Given the description of an element on the screen output the (x, y) to click on. 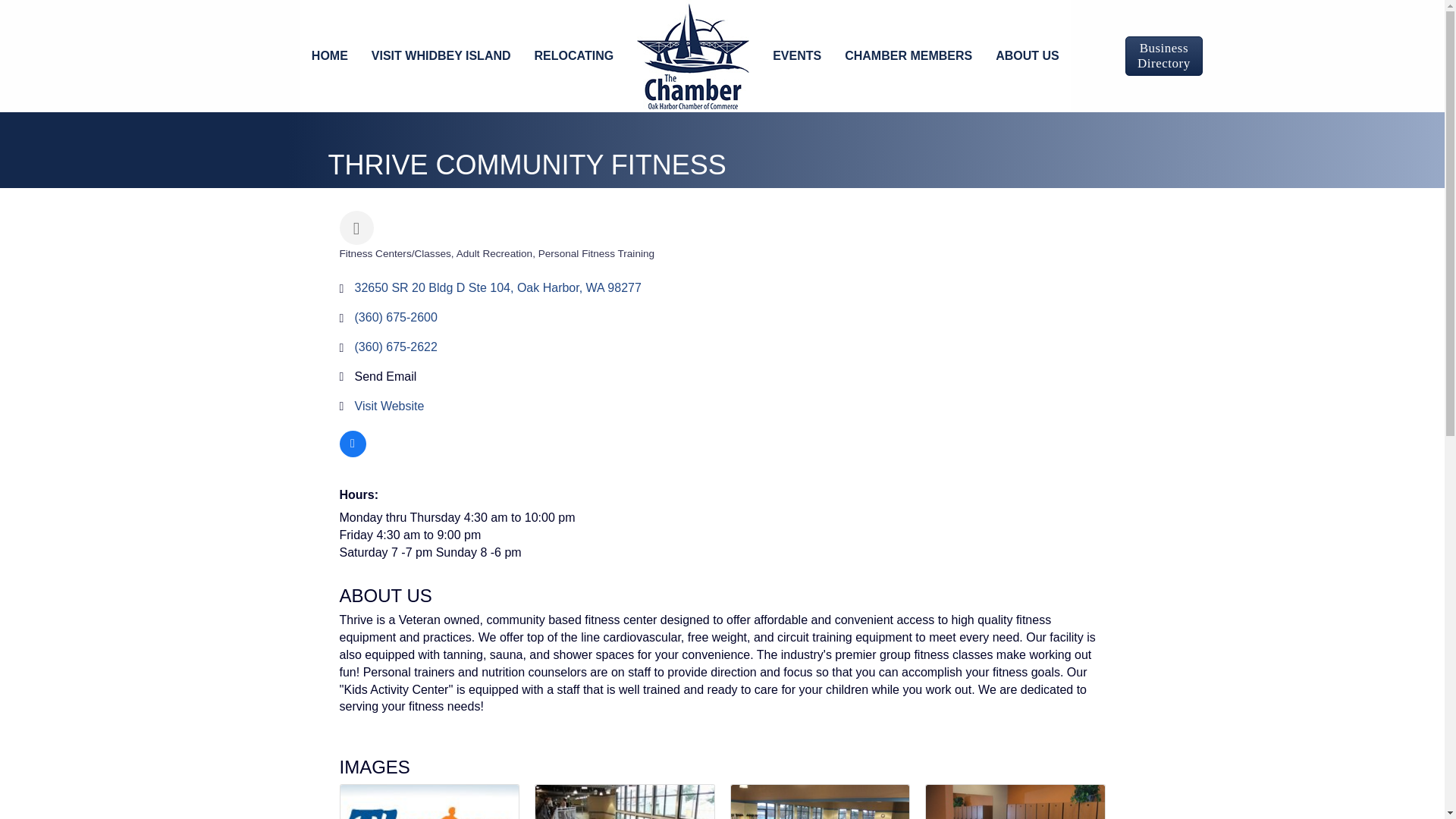
EVENTS (796, 56)
Gallery Image LOGO.jpg (428, 801)
CHAMBER MEMBERS (908, 56)
ABOUT US (1027, 56)
View on Facebook (352, 452)
Gallery Image Oak-Harbor-Looking-down-104.jpg (624, 801)
RELOCATING (574, 56)
Gallery Image Oak-Harbor-locker.jpg (1015, 801)
VISIT WHIDBEY ISLAND (440, 56)
HOME (329, 56)
